Given the description of an element on the screen output the (x, y) to click on. 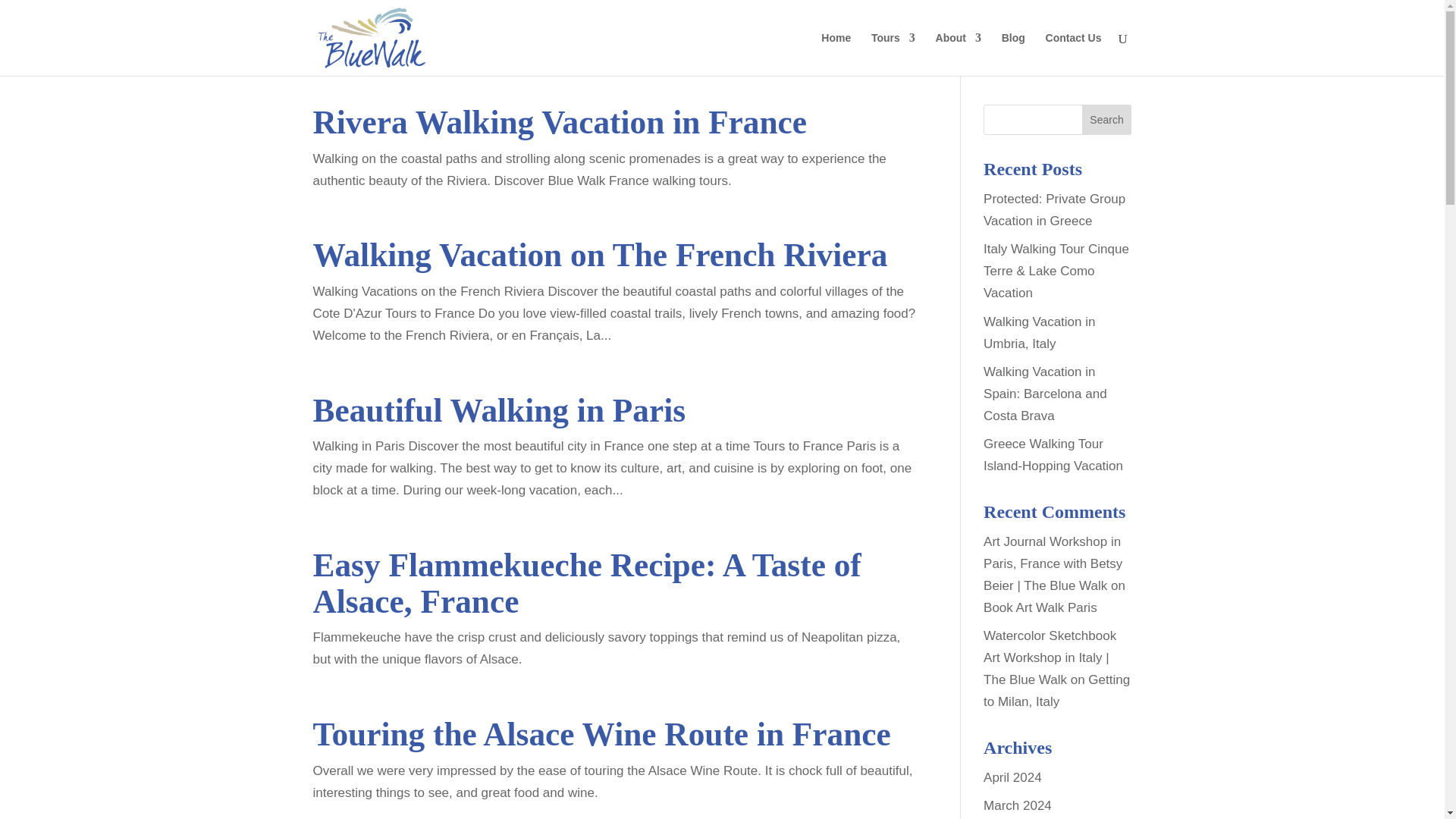
Easy Flammekueche Recipe: A Taste of Alsace, France (586, 583)
Greece Walking Tour Island-Hopping Vacation (1053, 454)
April 2024 (1013, 777)
Rivera Walking Vacation in France (559, 122)
Beautiful Walking in Paris (499, 410)
Book Art Walk Paris (1040, 607)
Walking Vacation on The French Riviera (599, 254)
Walking Vacation in Umbria, Italy (1039, 332)
Touring the Alsace Wine Route in France (601, 733)
Search (1106, 119)
Protected: Private Group Vacation in Greece (1054, 209)
Walking Vacation in Spain: Barcelona and Costa Brava (1045, 393)
Search (1106, 119)
Contact Us (1073, 54)
Tours (892, 54)
